Given the description of an element on the screen output the (x, y) to click on. 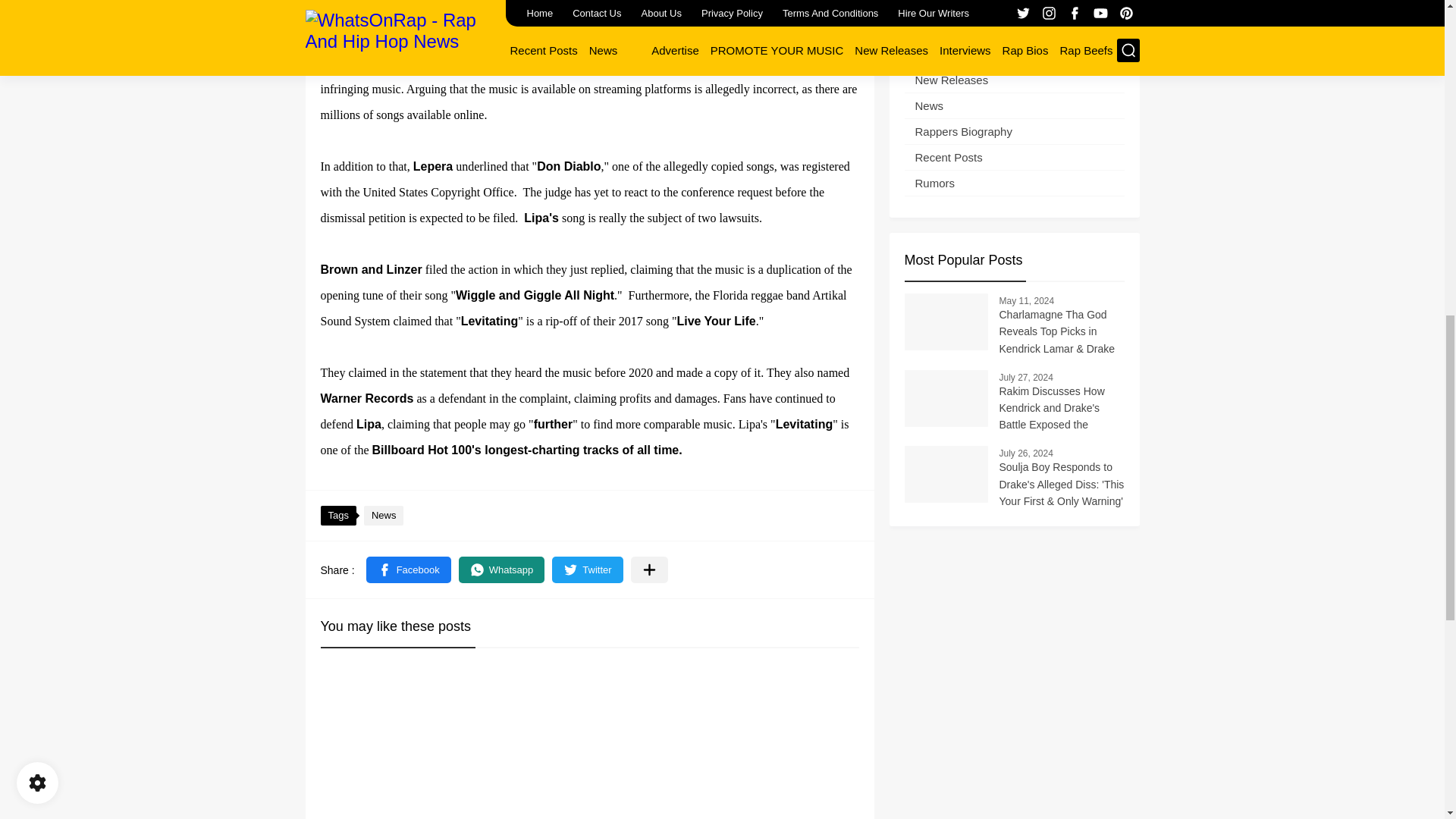
News (384, 515)
